Given the description of an element on the screen output the (x, y) to click on. 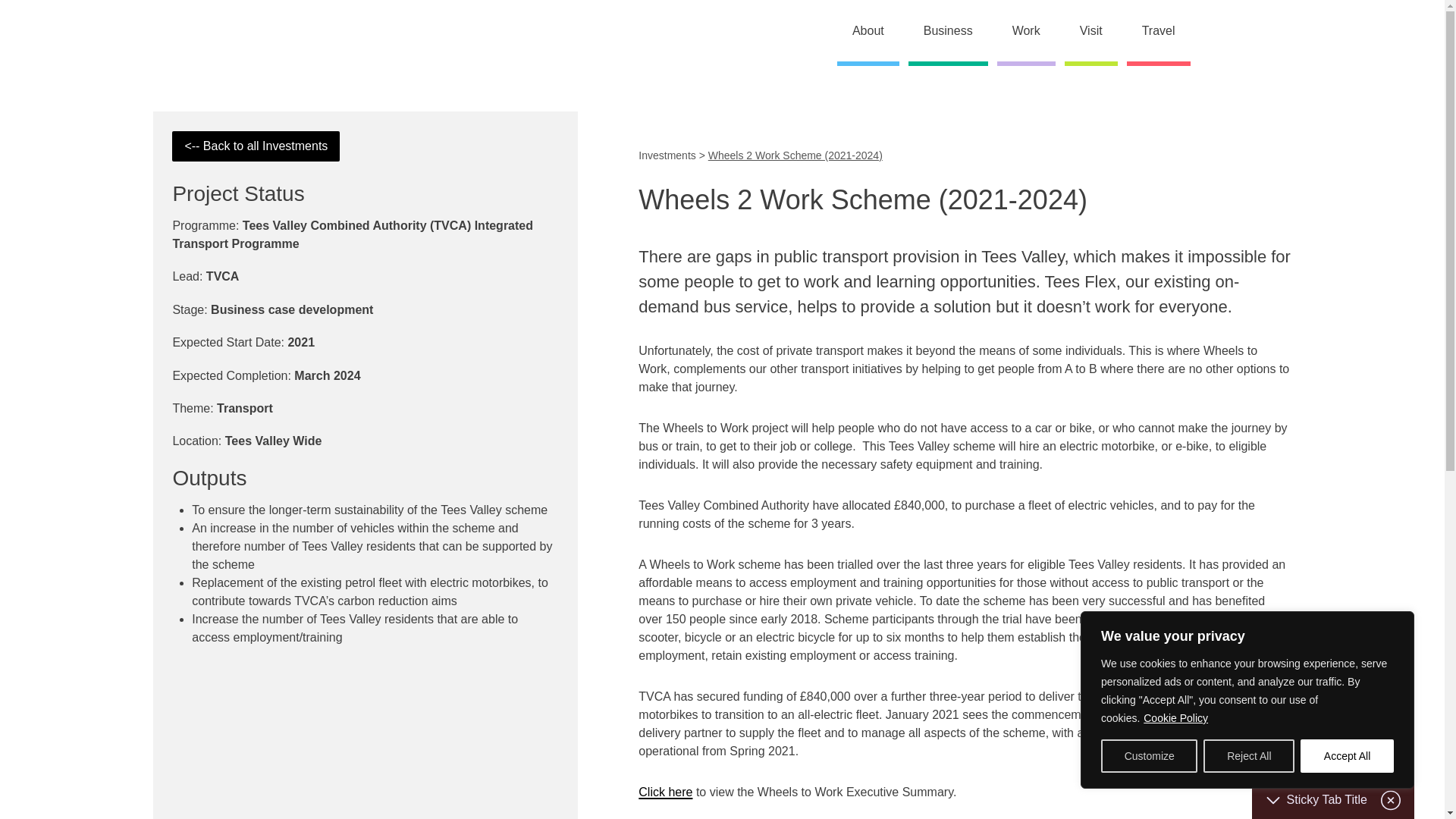
Search (1283, 33)
Customize (1148, 756)
Back to All Projects (255, 146)
Accept All (1346, 756)
Cookie Policy (1175, 717)
Reject All (1249, 756)
Visit Tees Valley Home (232, 32)
